Given the description of an element on the screen output the (x, y) to click on. 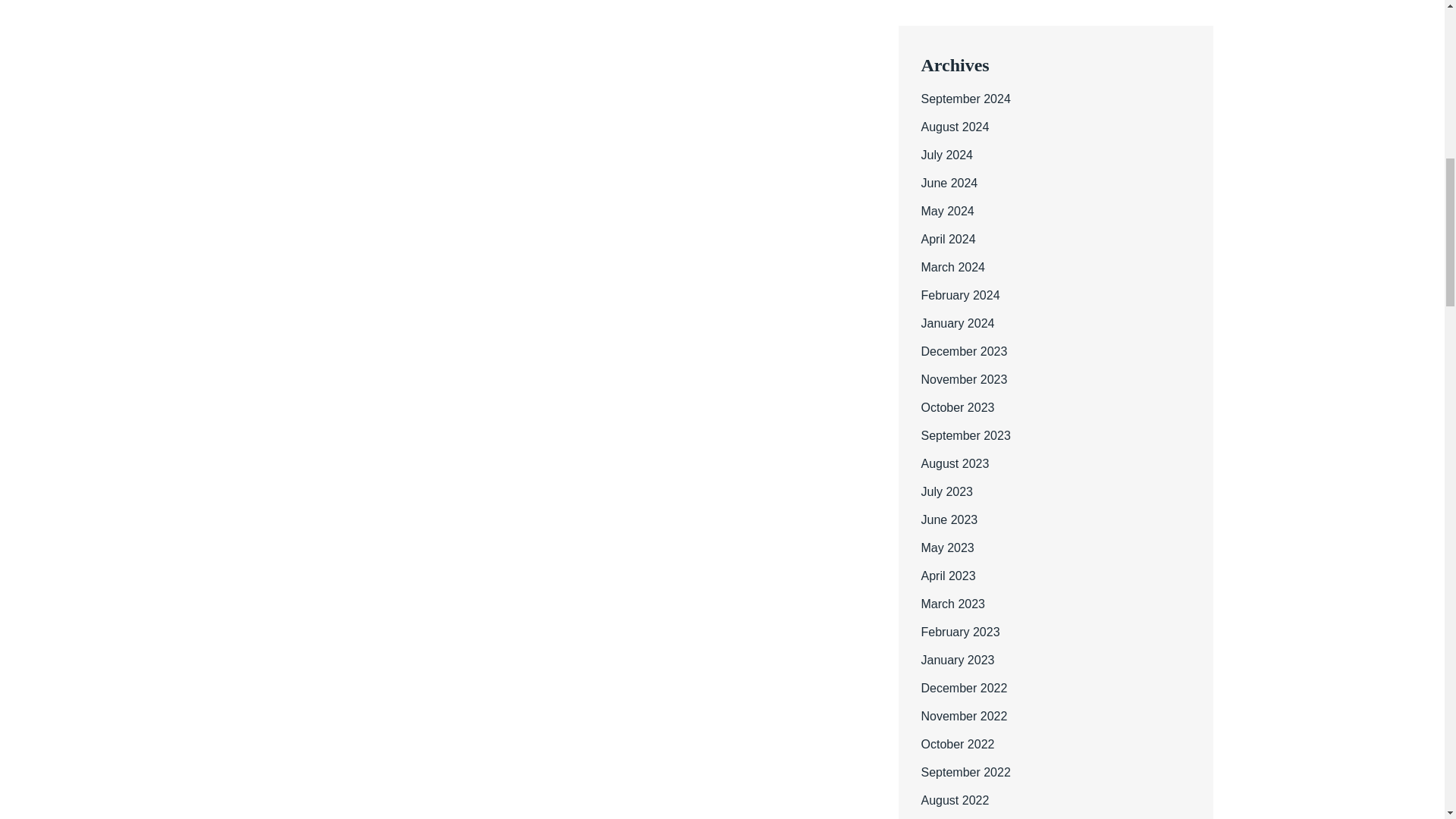
May 2024 (947, 210)
June 2024 (948, 182)
April 2024 (947, 238)
July 2023 (946, 491)
March 2024 (952, 267)
December 2022 (963, 687)
September 2024 (965, 98)
August 2023 (954, 463)
January 2024 (957, 323)
February 2023 (959, 631)
